Given the description of an element on the screen output the (x, y) to click on. 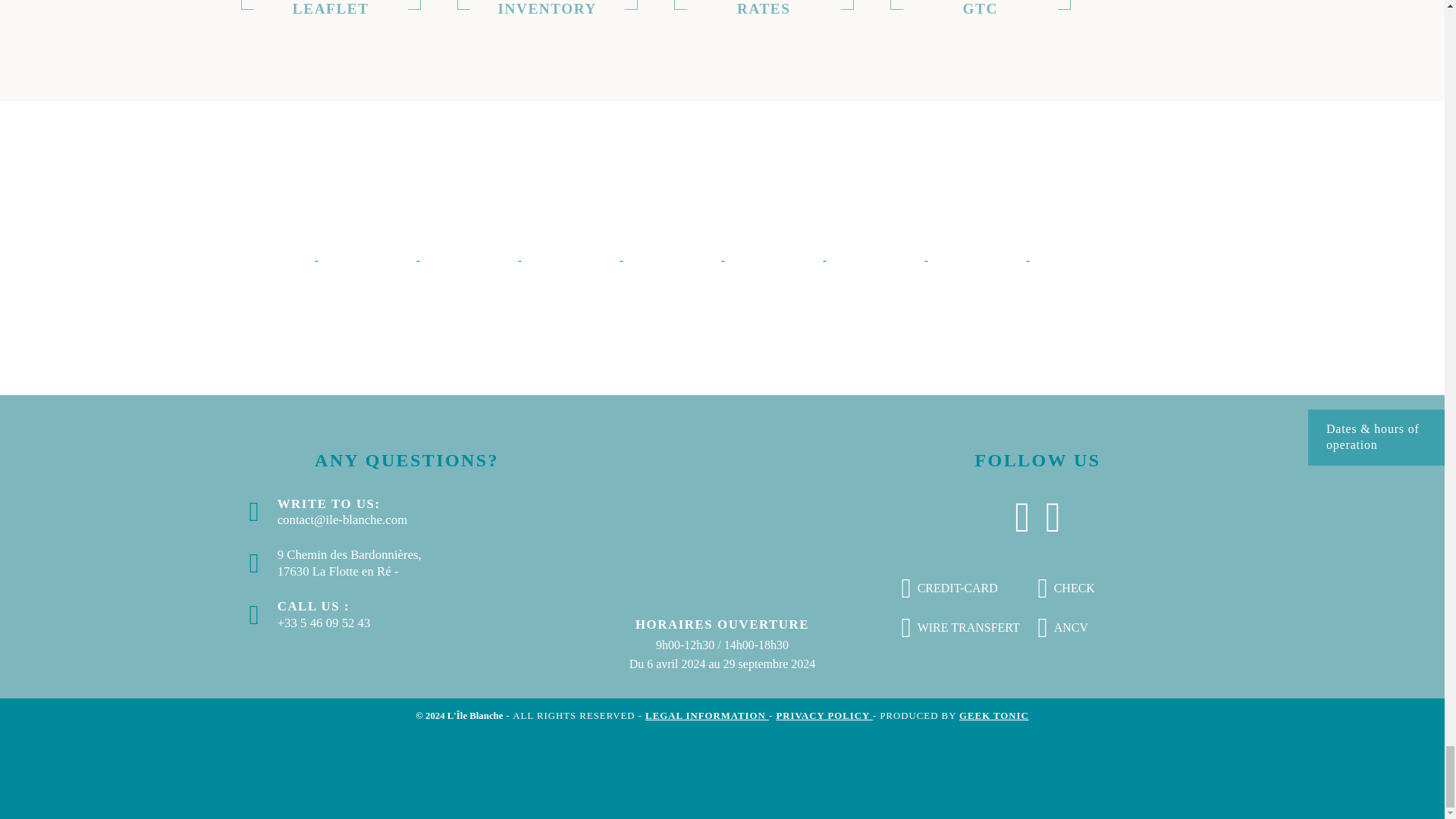
GTC (979, 4)
Super Famille (776, 255)
allecampingsinfrankrijk (572, 255)
ACSI (267, 255)
ANCV (470, 255)
Campings Atlantique (369, 255)
Rates (762, 4)
Brochure (331, 4)
FNHPA (877, 255)
Infiniment Charentes (978, 255)
Inventory (547, 4)
